Given the description of an element on the screen output the (x, y) to click on. 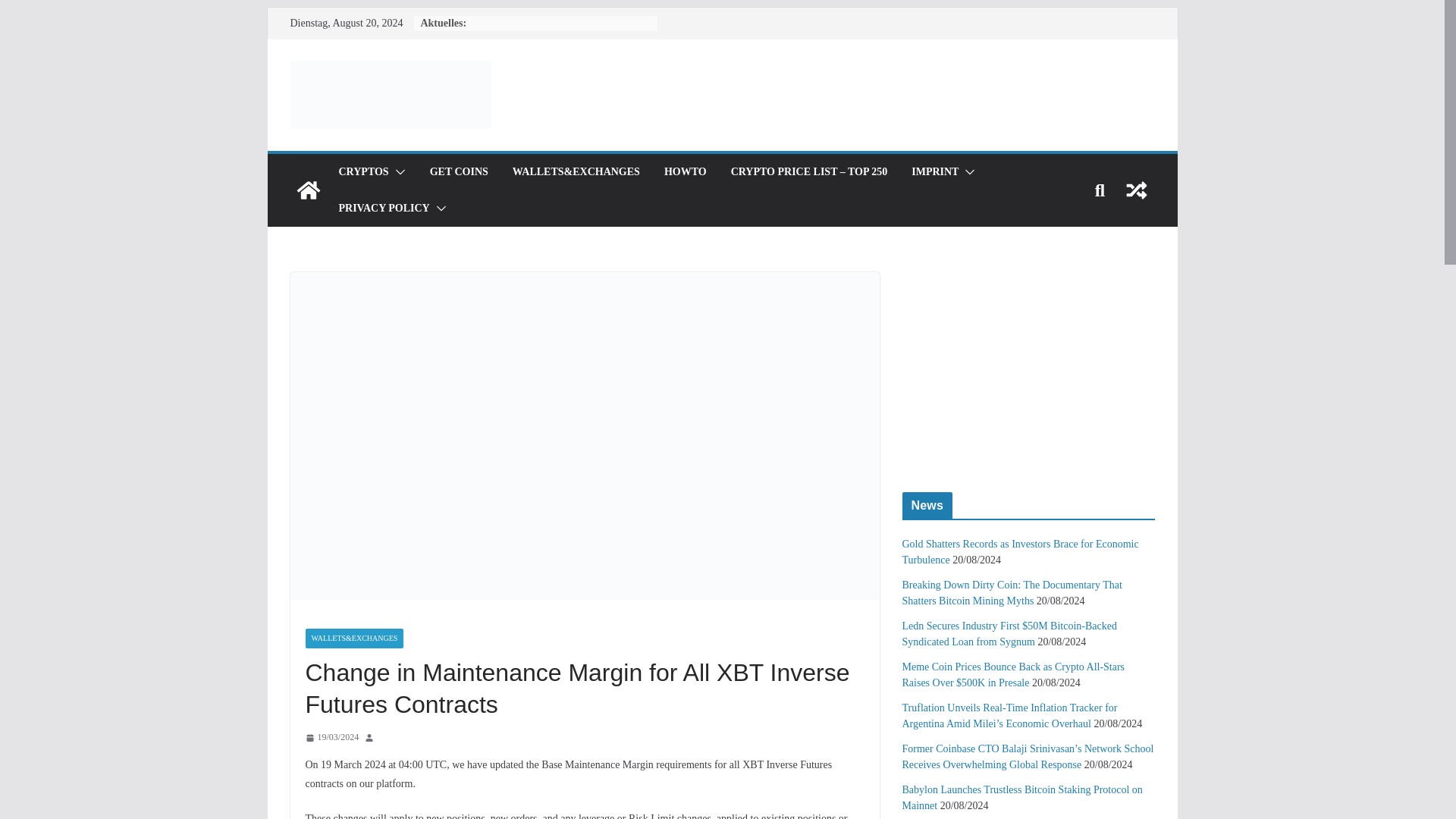
CRYPTOS (362, 171)
GET COINS (458, 171)
The Crypto News (307, 189)
07:13 (331, 737)
HOWTO (684, 171)
PRIVACY POLICY (383, 208)
IMPRINT (934, 171)
